Given the description of an element on the screen output the (x, y) to click on. 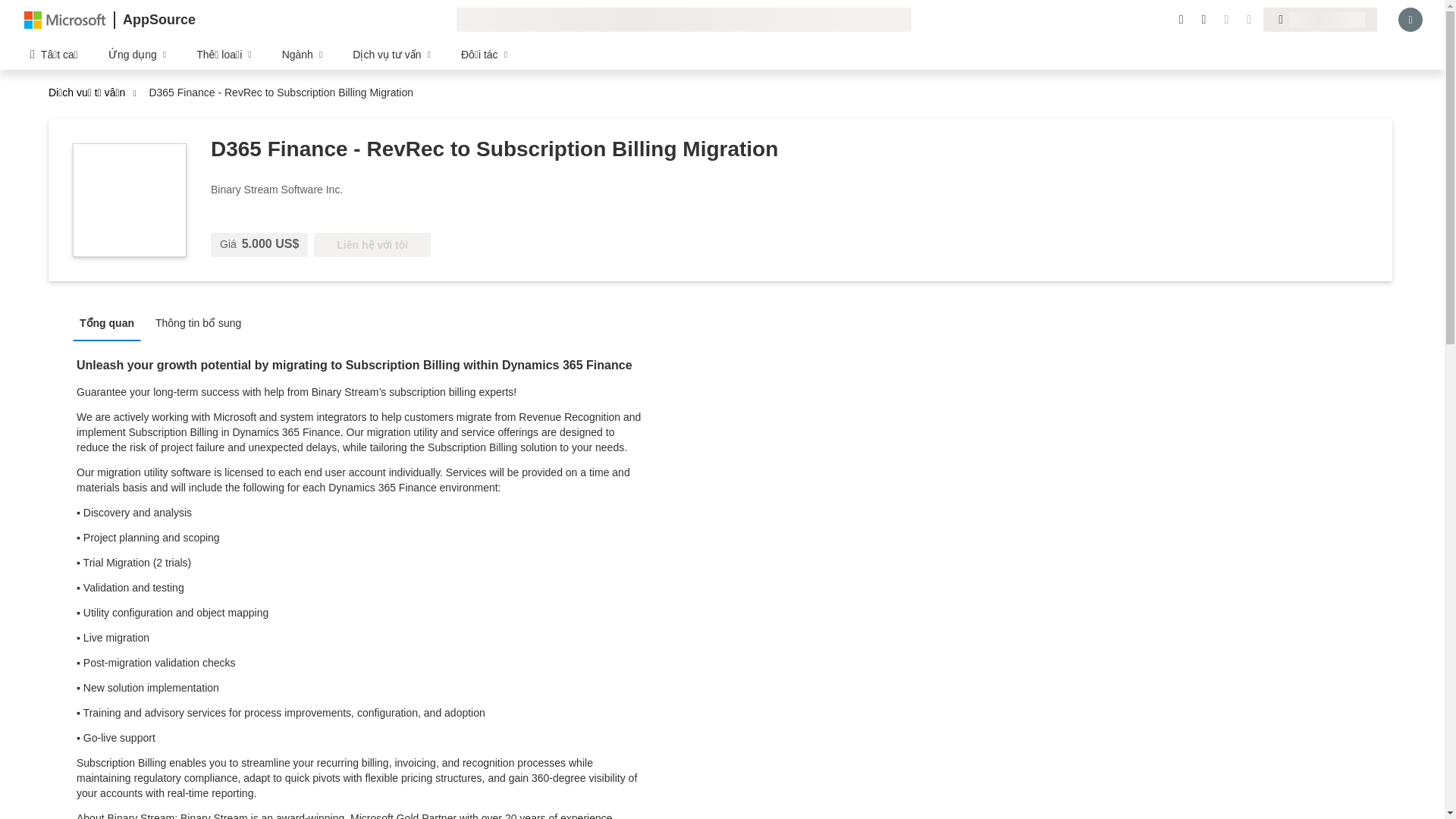
AppSource (158, 19)
Microsoft (65, 18)
